Given the description of an element on the screen output the (x, y) to click on. 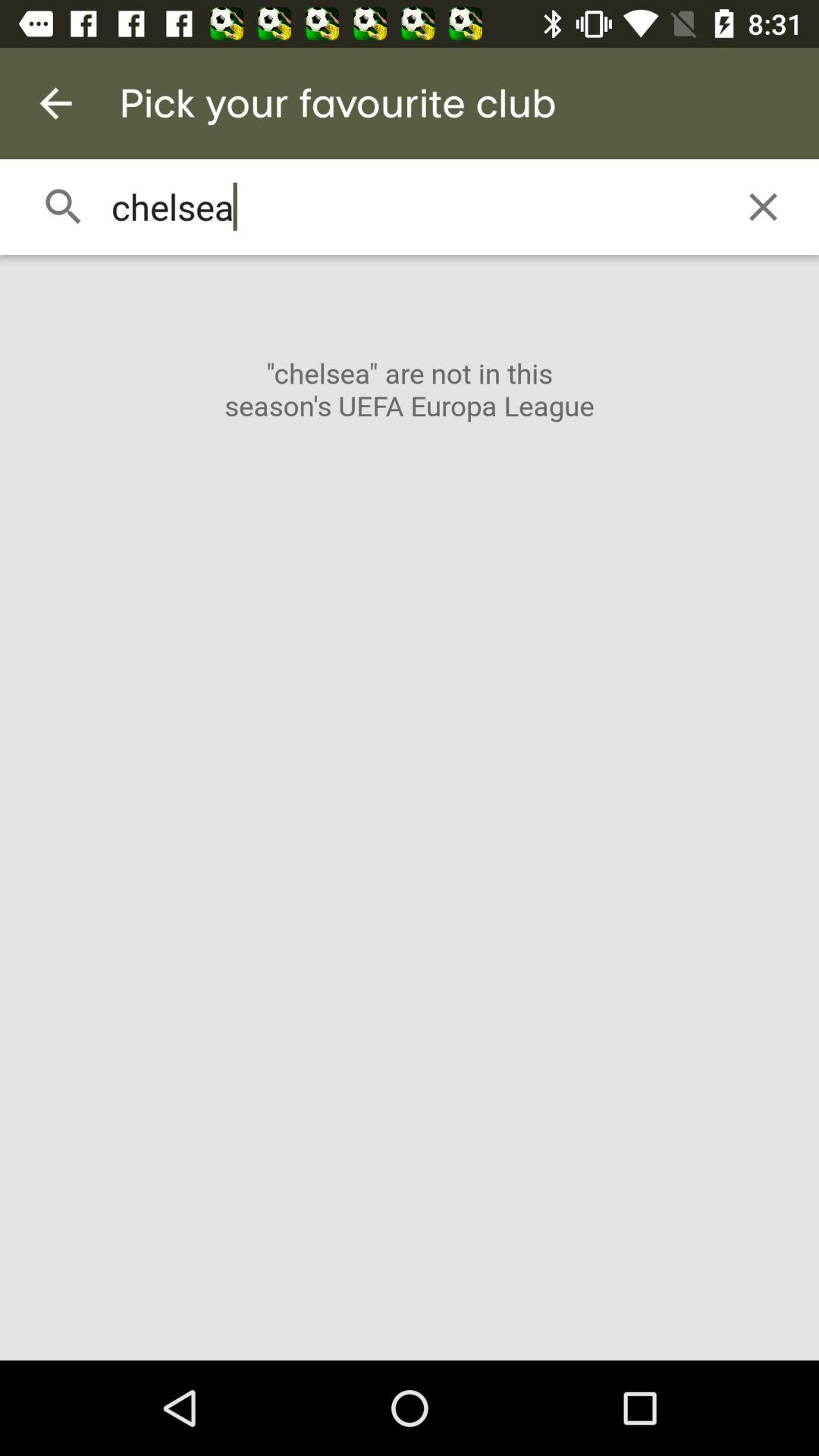
launch the item next to chelsea (763, 206)
